Given the description of an element on the screen output the (x, y) to click on. 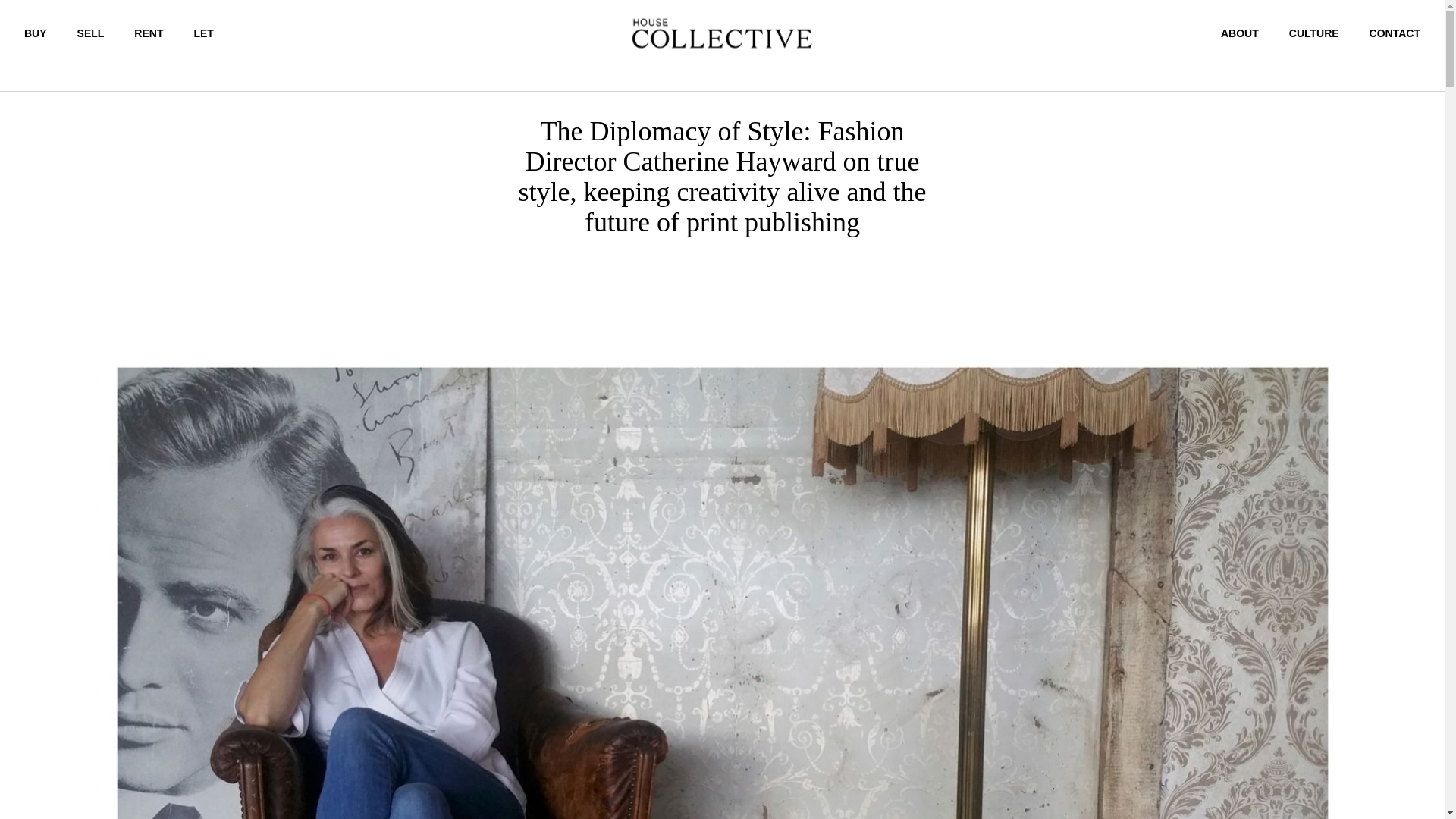
RENT (148, 33)
ABOUT (1240, 32)
CULTURE (1313, 32)
SELL (90, 33)
BUY (35, 33)
CONTACT (1395, 32)
LET (202, 33)
